Given the description of an element on the screen output the (x, y) to click on. 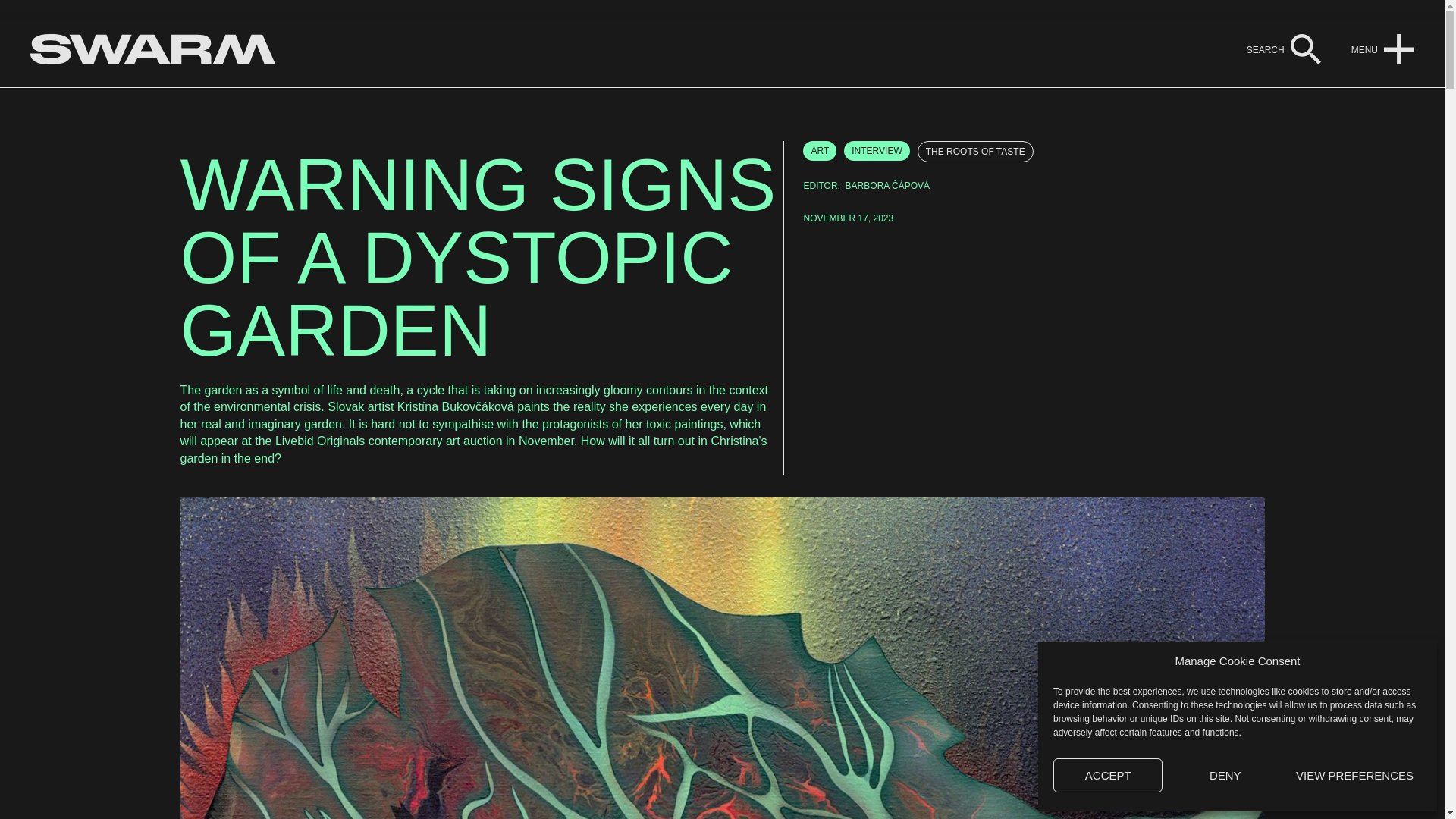
VIEW PREFERENCES (1354, 775)
MENU (1364, 50)
SEARCH (1265, 50)
DENY (1224, 775)
ACCEPT (1106, 775)
